Given the description of an element on the screen output the (x, y) to click on. 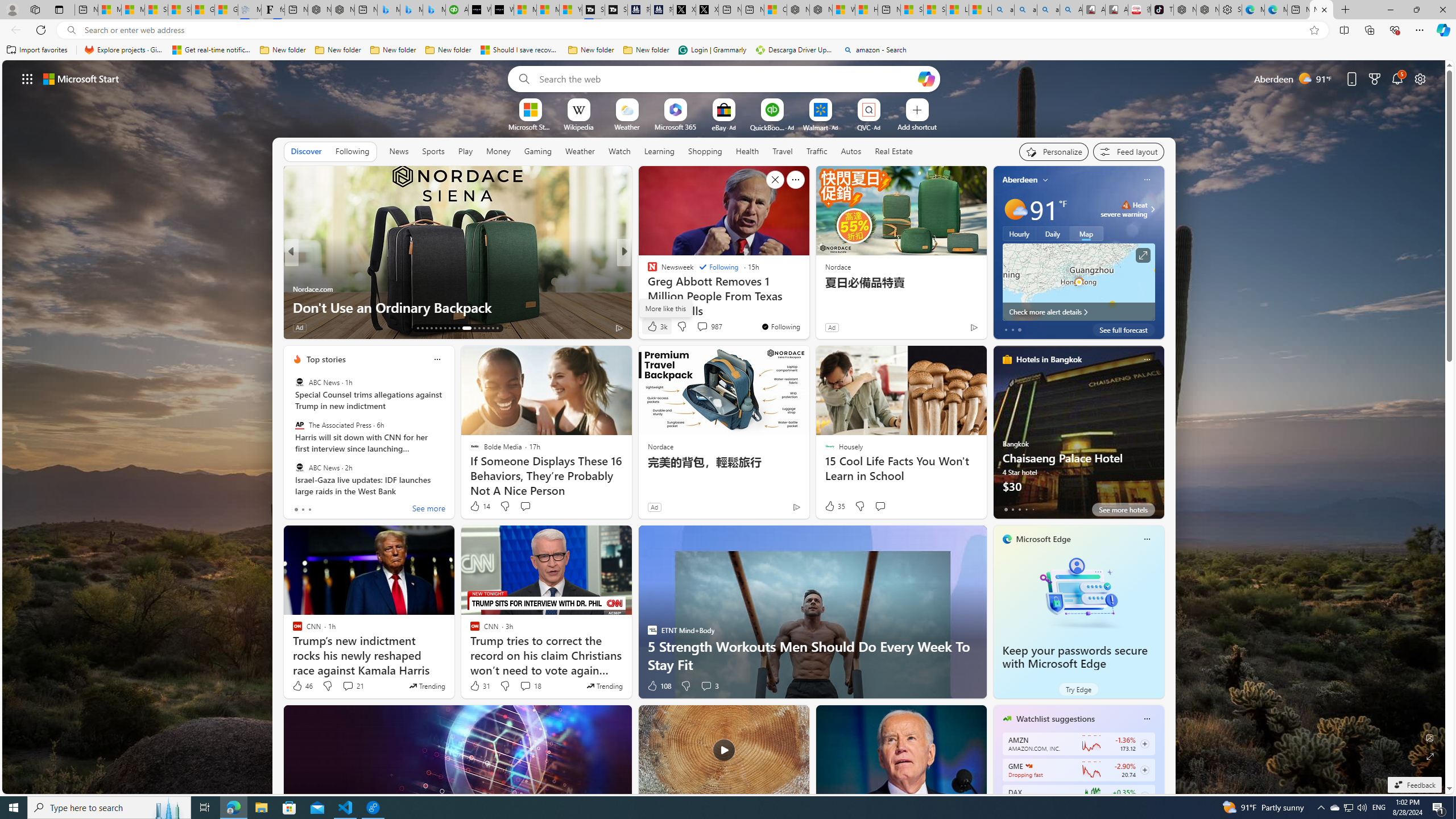
Add a site (916, 126)
View comments 174 Comment (6, 327)
View comments 1 Comment (349, 327)
Watch (619, 151)
Map (1085, 233)
AutomationID: tab-28 (492, 328)
Keep your passwords secure with Microsoft Edge (1074, 657)
News (398, 151)
tab-2 (1019, 509)
